Given the description of an element on the screen output the (x, y) to click on. 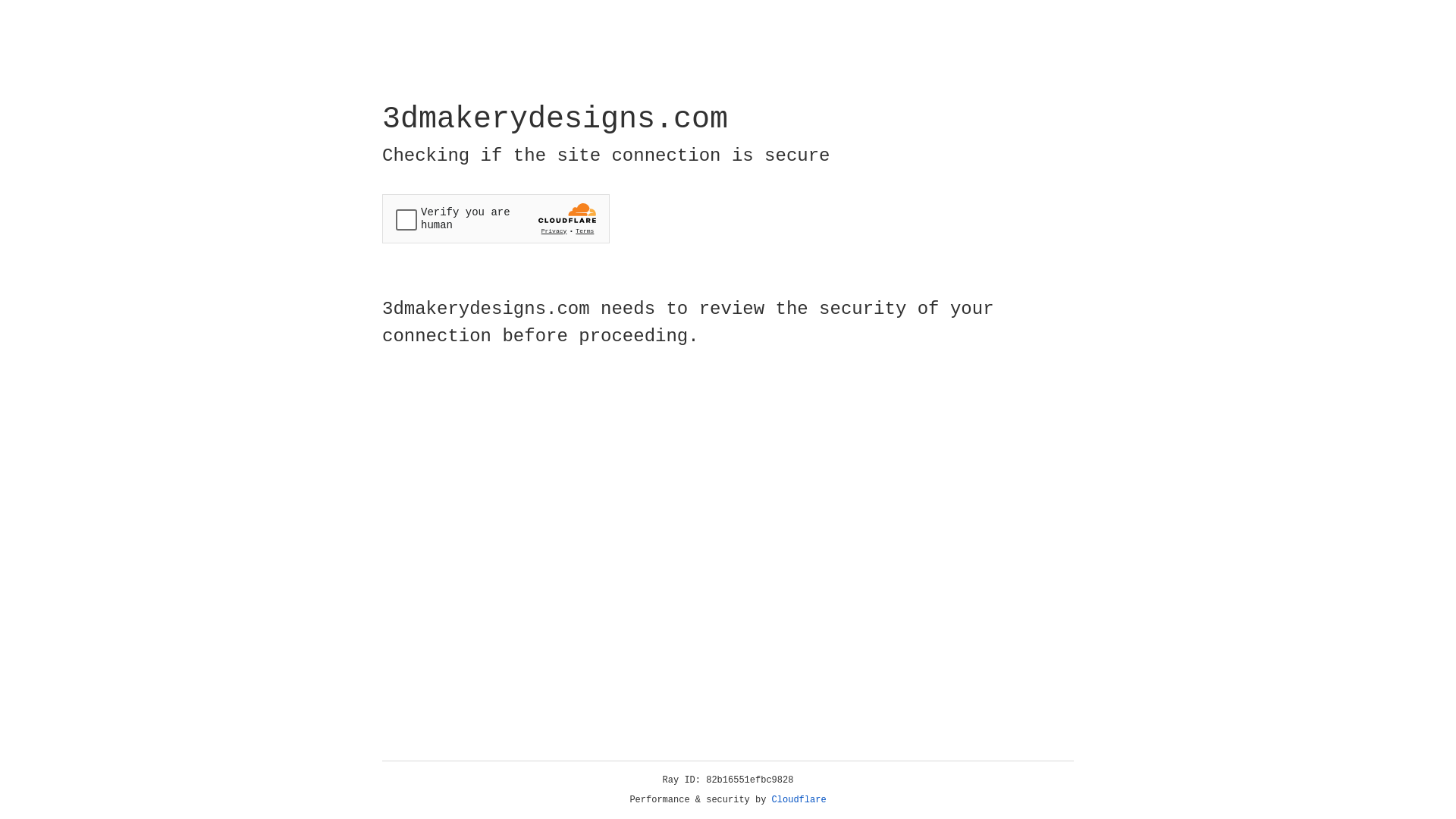
Widget containing a Cloudflare security challenge Element type: hover (495, 218)
Cloudflare Element type: text (798, 799)
